Given the description of an element on the screen output the (x, y) to click on. 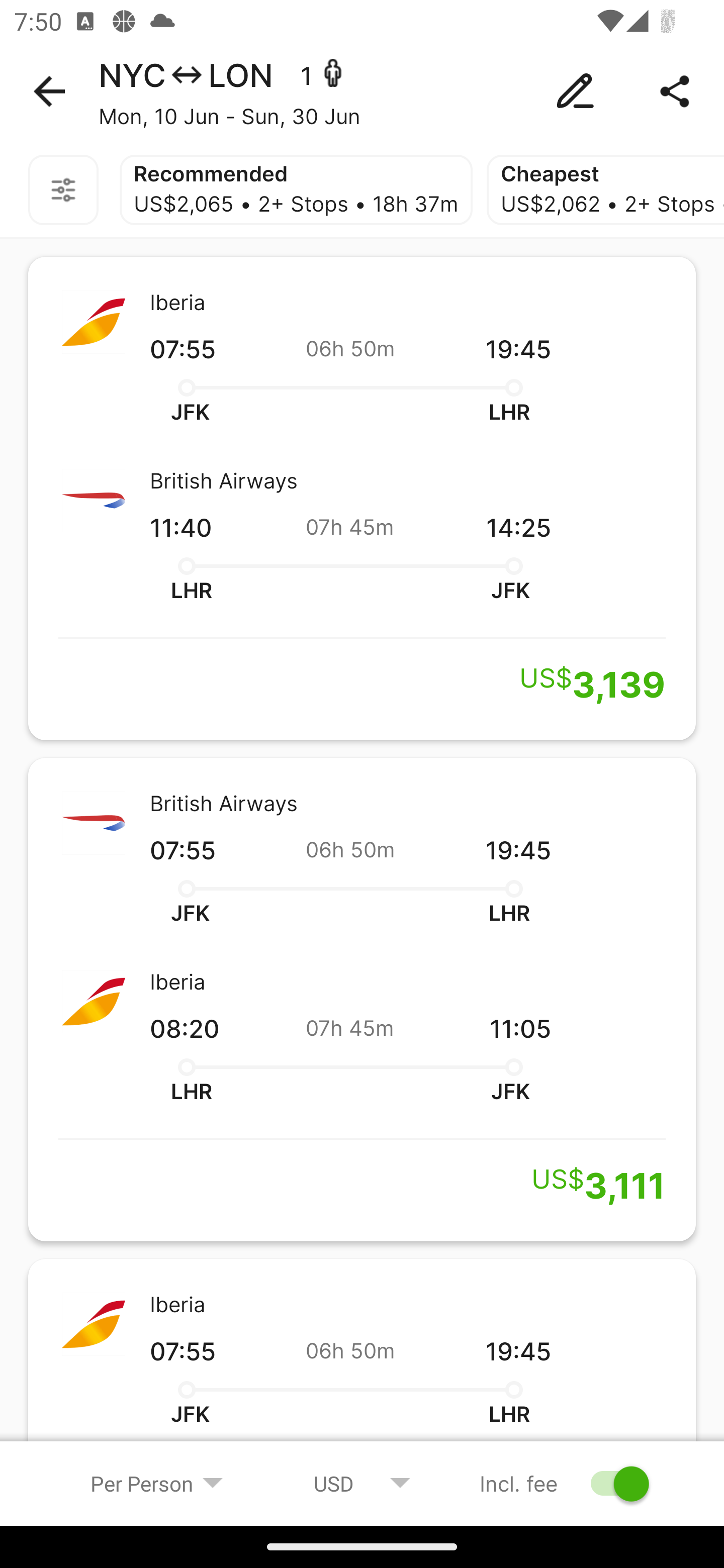
NYC LON   1 - Mon, 10 Jun - Sun, 30 Jun (361, 91)
Recommended  US$2,065 • 2+ Stops • 18h 37m (295, 190)
Cheapest US$2,062 • 2+ Stops • 30h 45m (605, 190)
Iberia 07:55 06h 50m 19:45 JFK LHR British Airways (361, 1371)
Per Person (156, 1482)
USD (361, 1482)
